Given the description of an element on the screen output the (x, y) to click on. 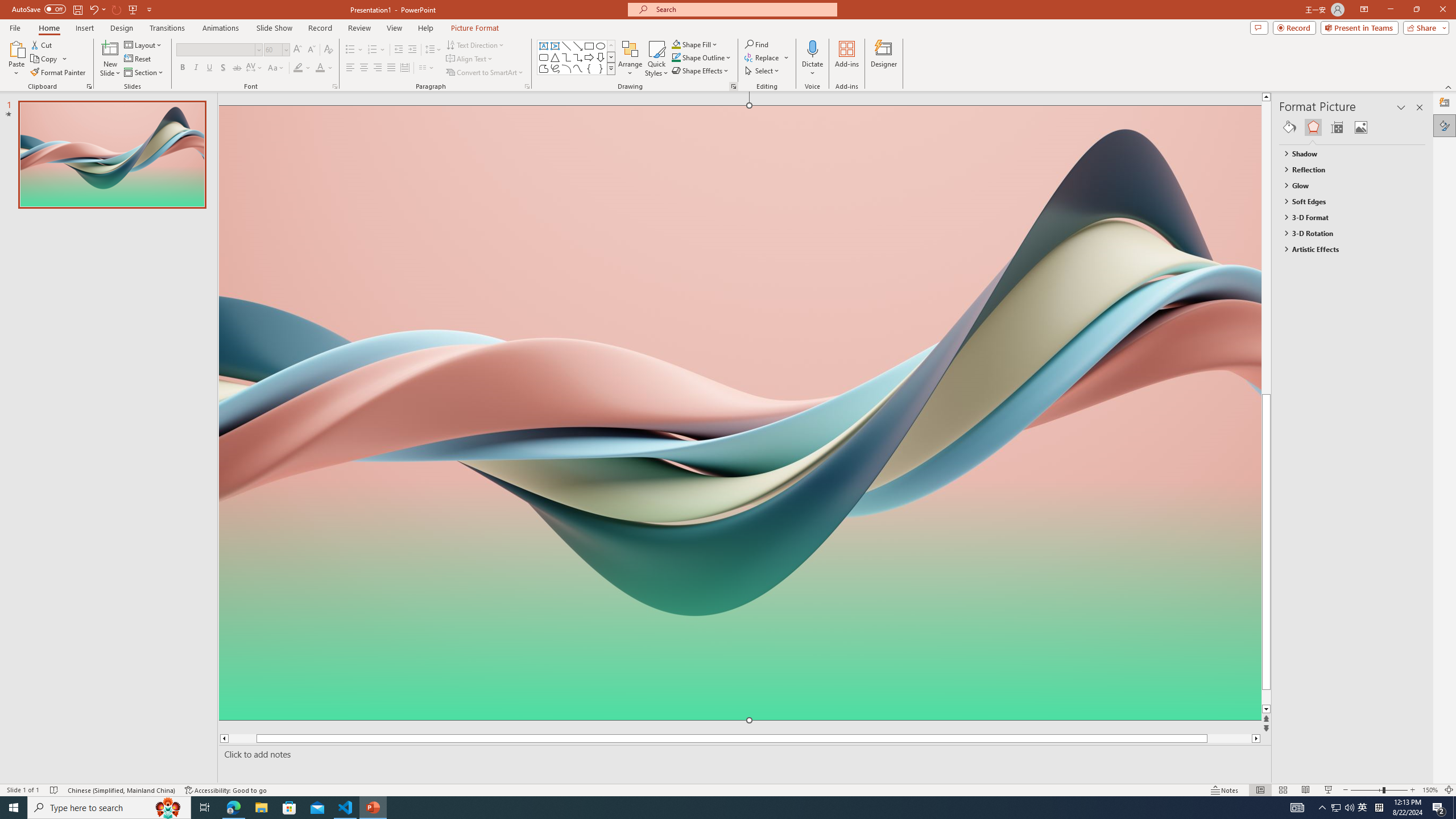
Soft Edges (1347, 201)
Class: NetUIScrollBar (1420, 460)
